Given the description of an element on the screen output the (x, y) to click on. 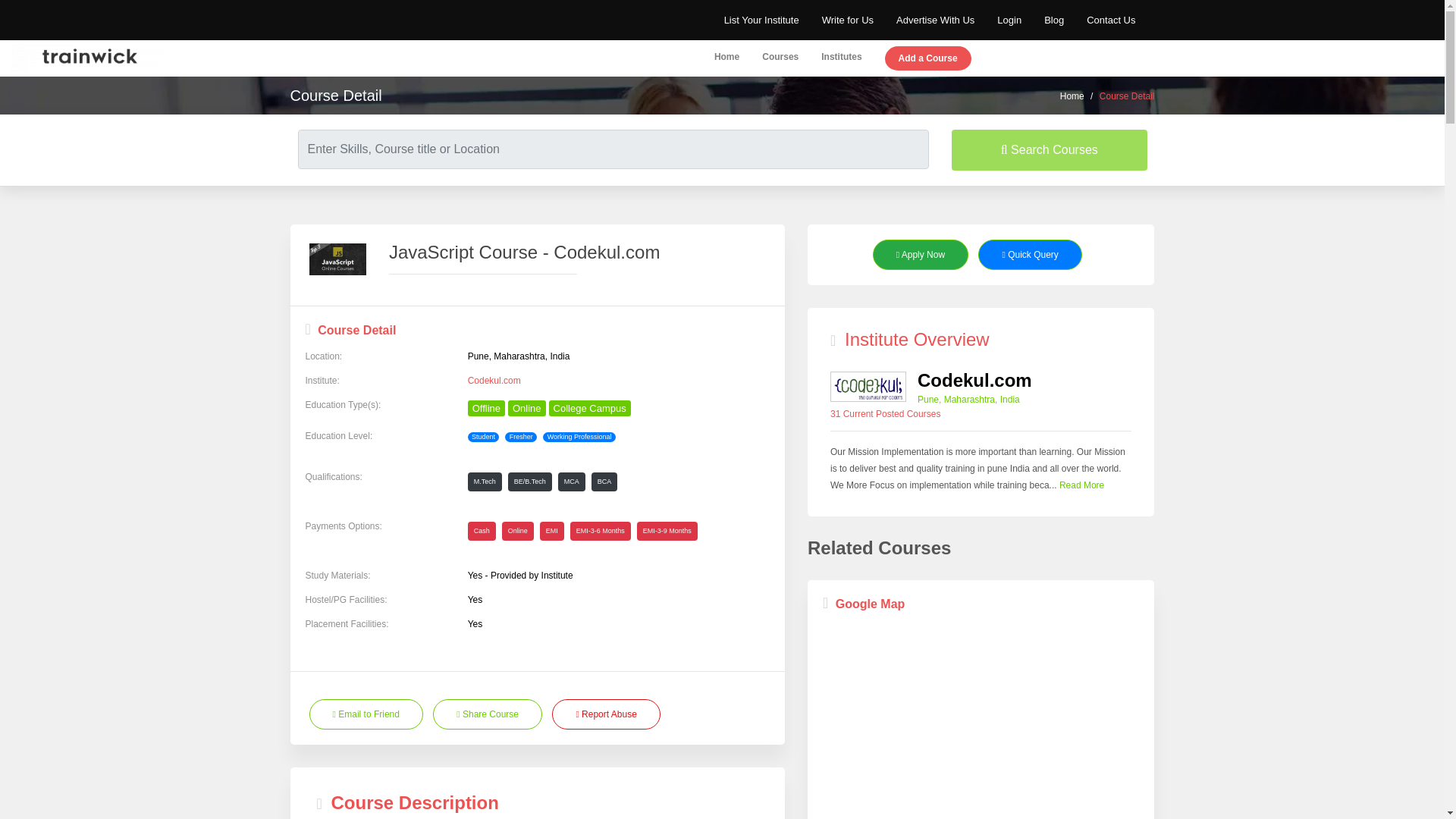
Fresher (521, 437)
Search Courses (1049, 149)
Working Professional (579, 437)
Email to Friend (365, 714)
Online (527, 408)
Codekul.com (868, 386)
Contact Us (1110, 19)
Institutes (841, 57)
Add a Course (928, 58)
JavaScript Course (337, 259)
